Given the description of an element on the screen output the (x, y) to click on. 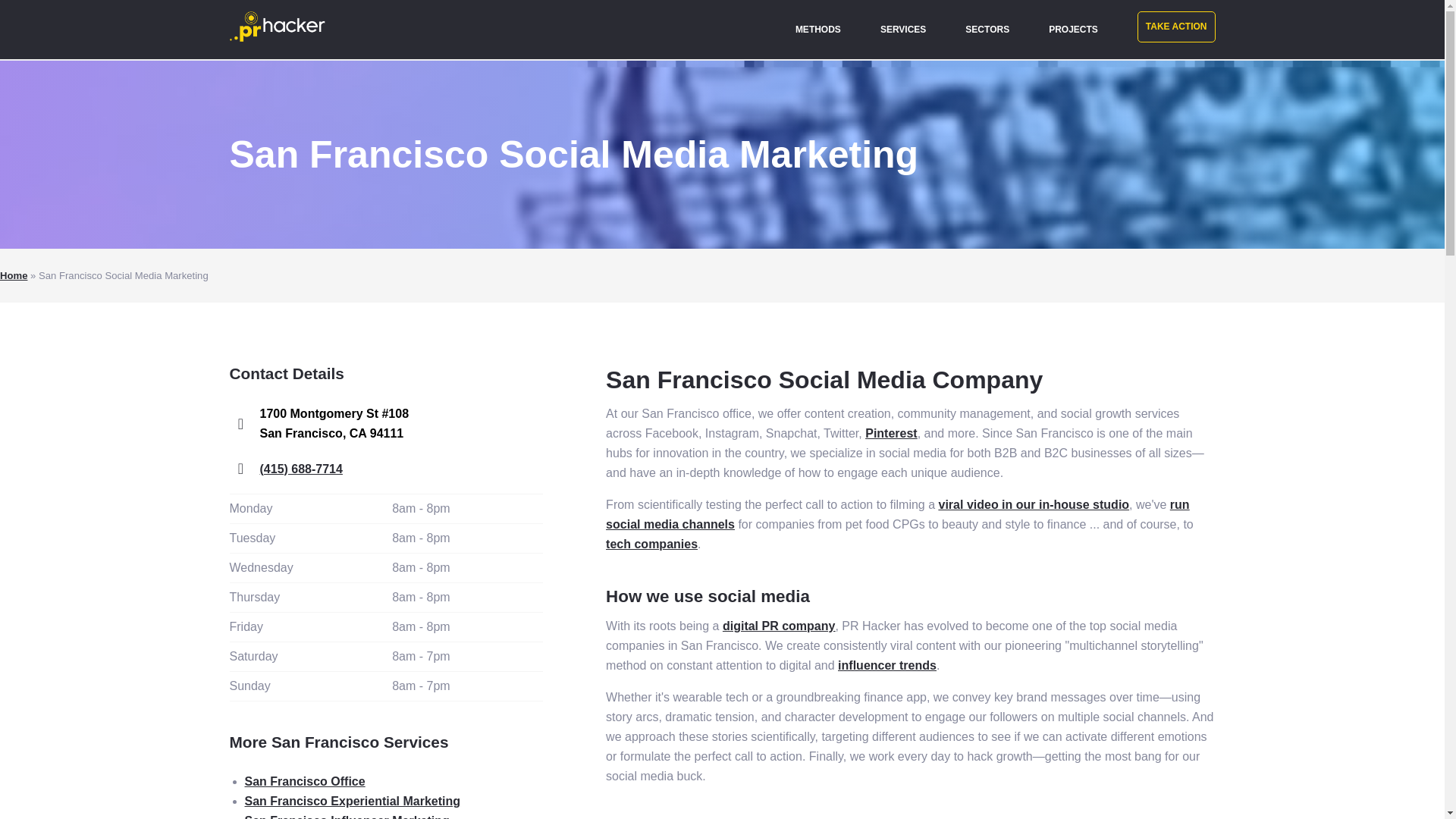
TAKE ACTION (1176, 26)
SECTORS (987, 29)
digital PR company (778, 625)
SERVICES (902, 29)
run social media channels (897, 513)
Pinterest (890, 432)
San Francisco Experiential Marketing (352, 800)
PROJECTS (1065, 29)
San Francisco Influencer Marketing (346, 816)
